Given the description of an element on the screen output the (x, y) to click on. 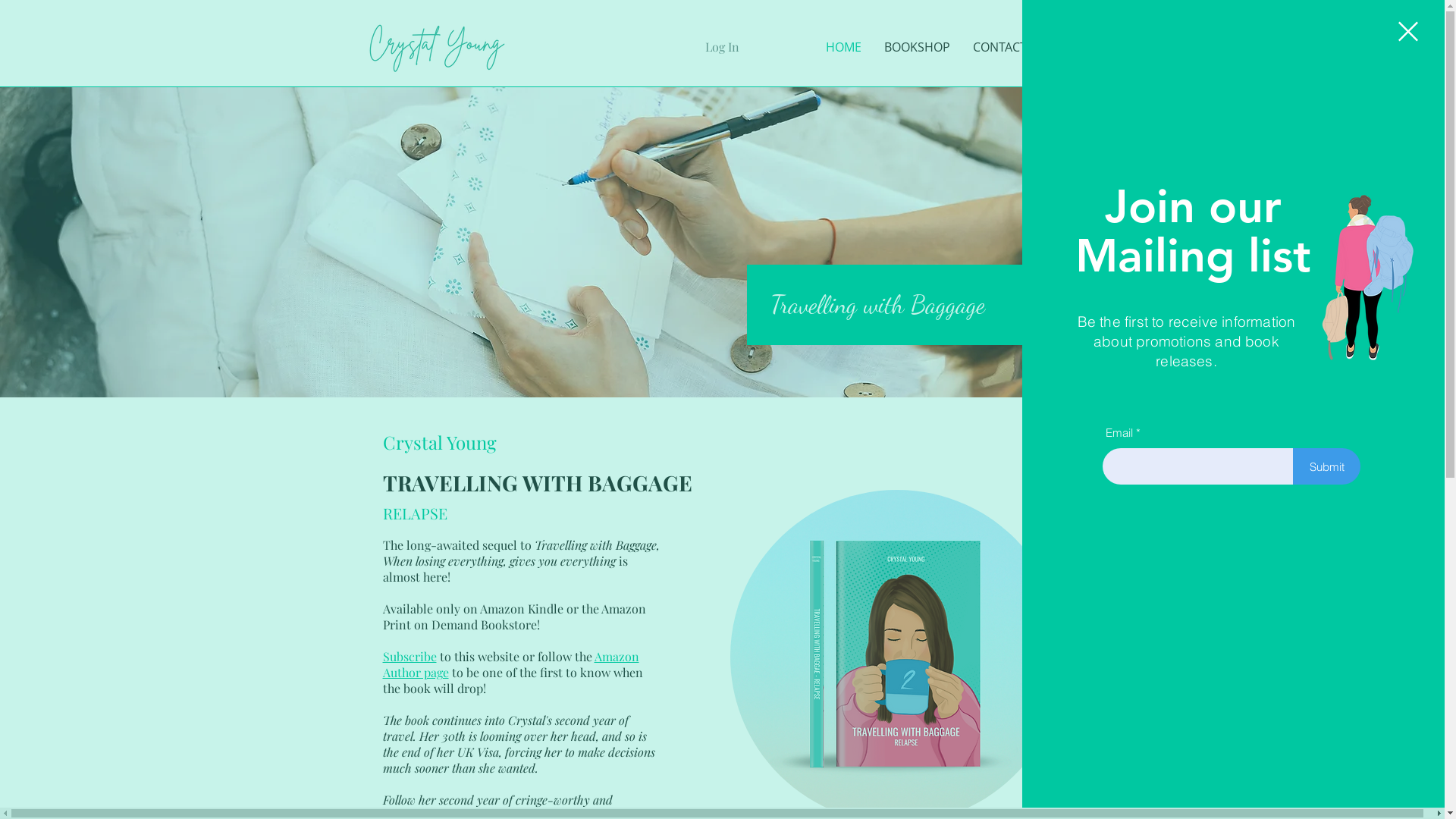
Subscribe Element type: text (409, 656)
Submit Element type: text (1326, 466)
Amazon Author page Element type: text (510, 664)
HOME Element type: text (843, 46)
CONTACT Element type: text (999, 46)
Log In Element type: text (721, 46)
BOOKSHOP Element type: text (916, 46)
0 Element type: text (1062, 44)
Back to site Element type: hover (1408, 31)
